Given the description of an element on the screen output the (x, y) to click on. 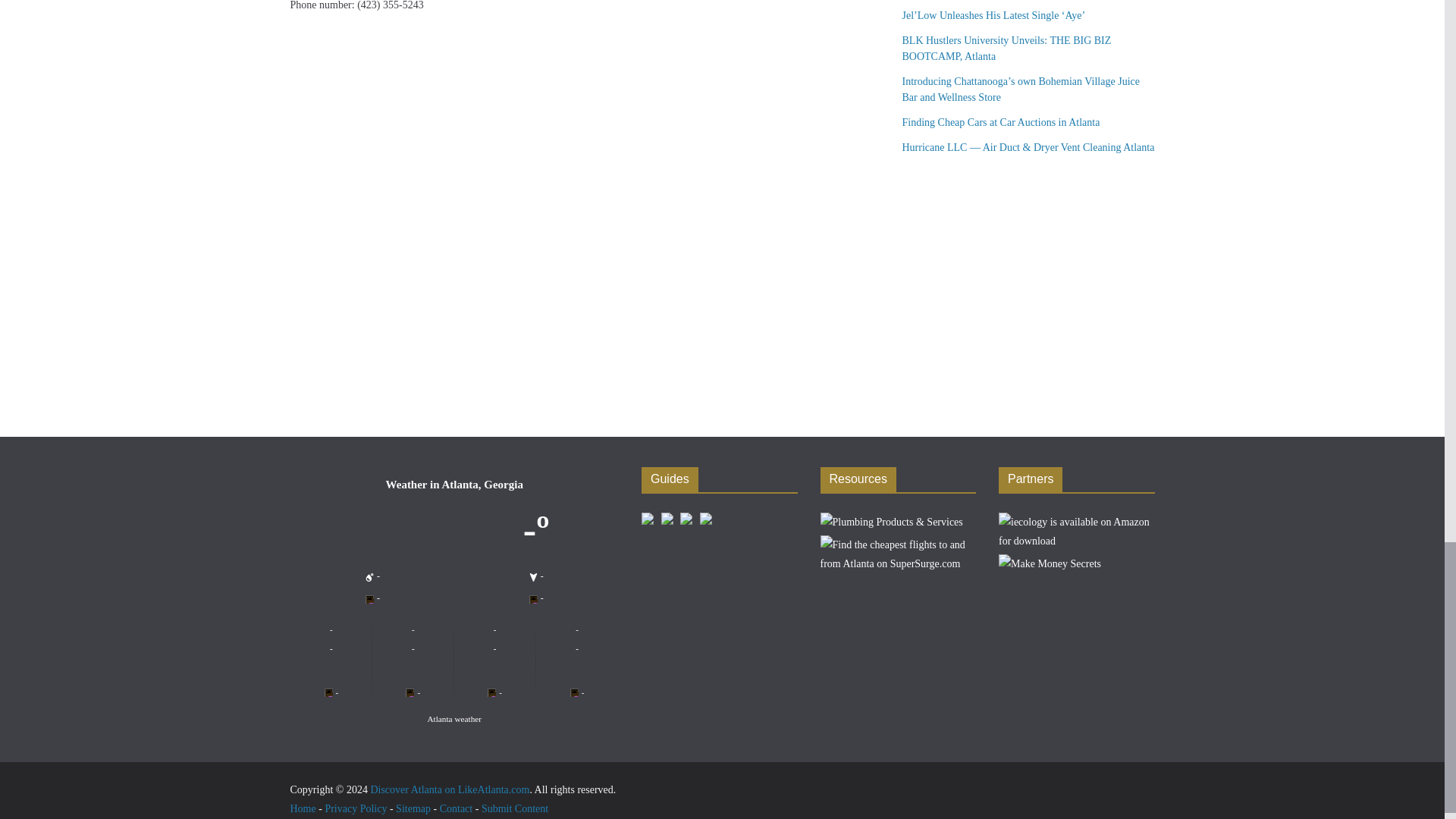
iecology is available on Amazon for download (1076, 518)
Make Money Secrets (1049, 559)
Discover Atlanta on LikeAtlanta.com (449, 789)
